Given the description of an element on the screen output the (x, y) to click on. 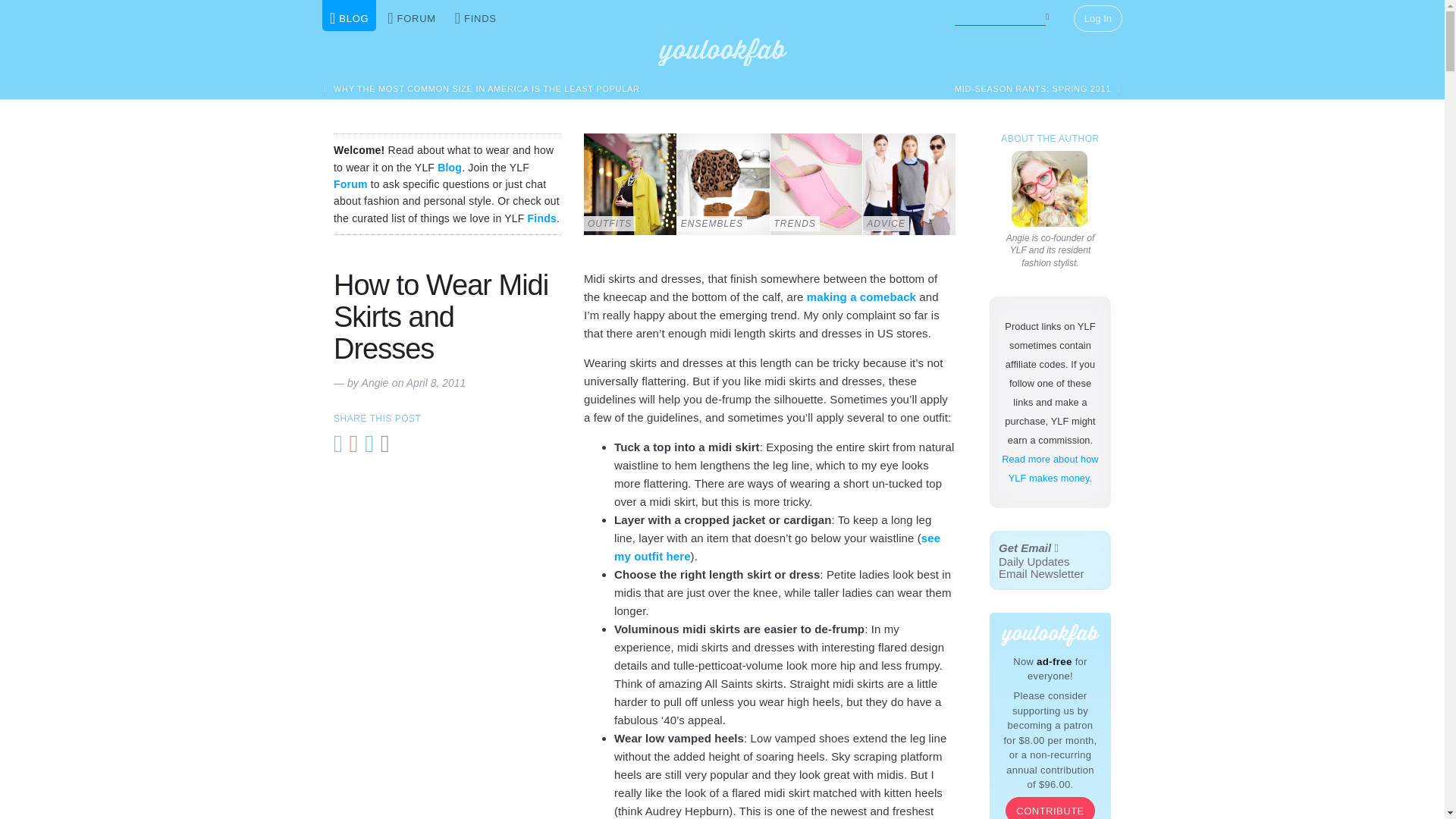
Angie (1049, 188)
making a comeback (860, 296)
TRENDS (816, 184)
Permanent Link to How to Wear Midi Skirts and Dresses (440, 316)
CONTRIBUTE (1050, 807)
Angie (1050, 559)
MID-SEASON RANTS: SPRING 2011 (374, 382)
Search (1038, 87)
WHY THE MOST COMMON SIZE IN AMERICA IS THE LEAST POPULAR (1049, 15)
Forum (481, 87)
ENSEMBLES (350, 184)
How to Wear Midi Skirts and Dresses (723, 184)
Read more about how YLF makes money. (440, 316)
BLOG (1049, 468)
